Given the description of an element on the screen output the (x, y) to click on. 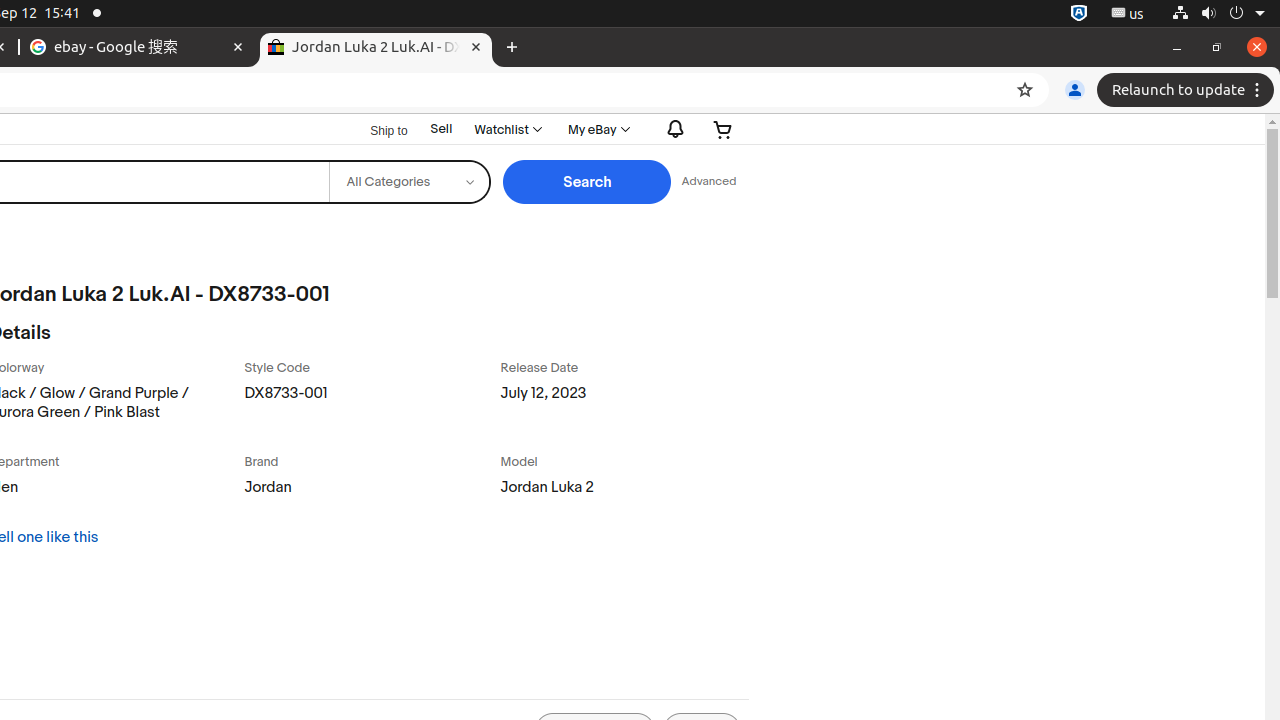
Jordan Luka 2 Luk.AI - DX8733-001 | eBay Element type: page-tab (376, 47)
Jordan Luka 2 Element type: table-cell (624, 492)
System Element type: menu (1218, 13)
Bookmark this tab Element type: push-button (1025, 90)
July 12, 2023 Element type: table-cell (624, 405)
